Given the description of an element on the screen output the (x, y) to click on. 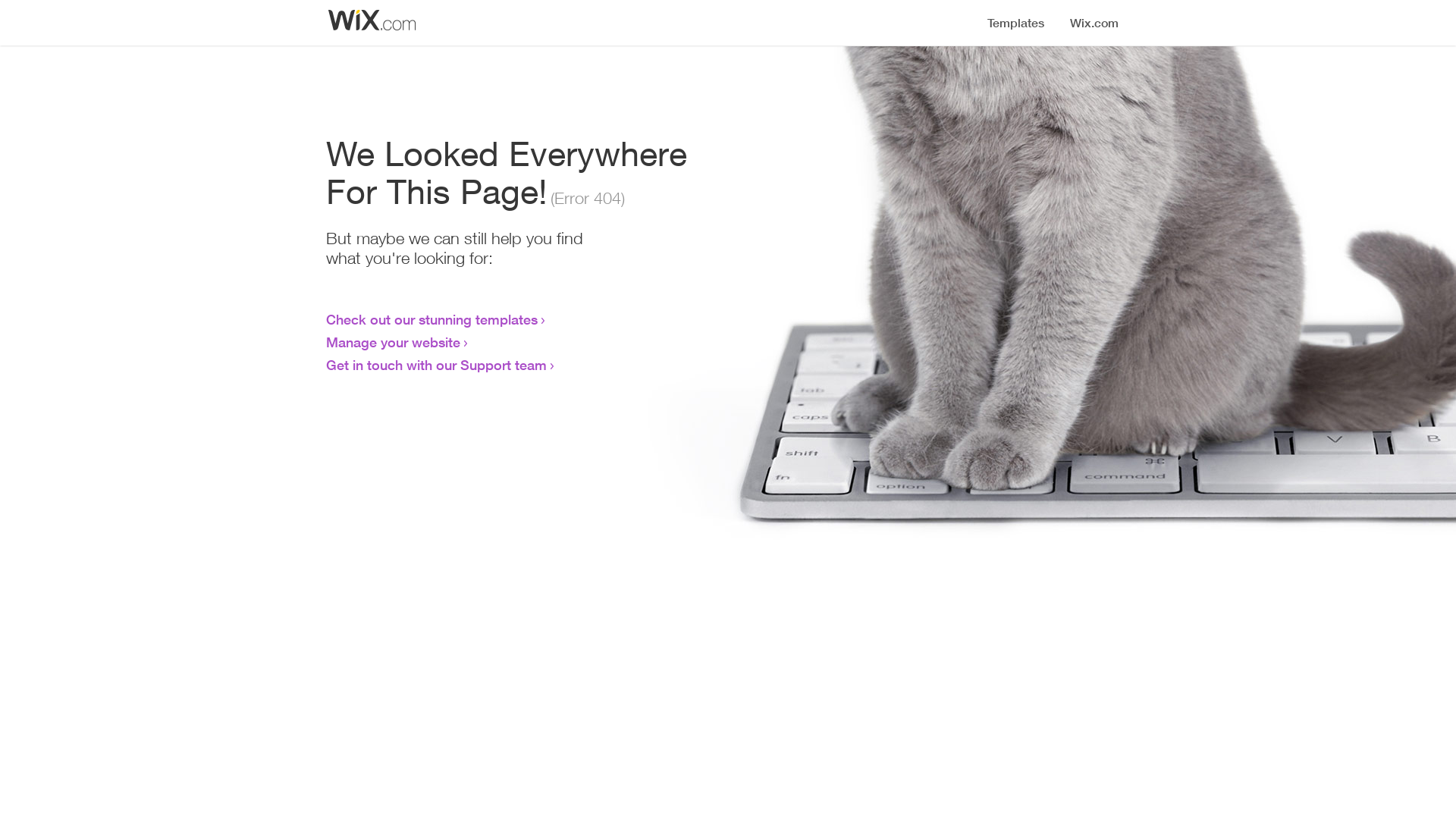
Check out our stunning templates Element type: text (431, 318)
Manage your website Element type: text (393, 341)
Get in touch with our Support team Element type: text (436, 364)
